Given the description of an element on the screen output the (x, y) to click on. 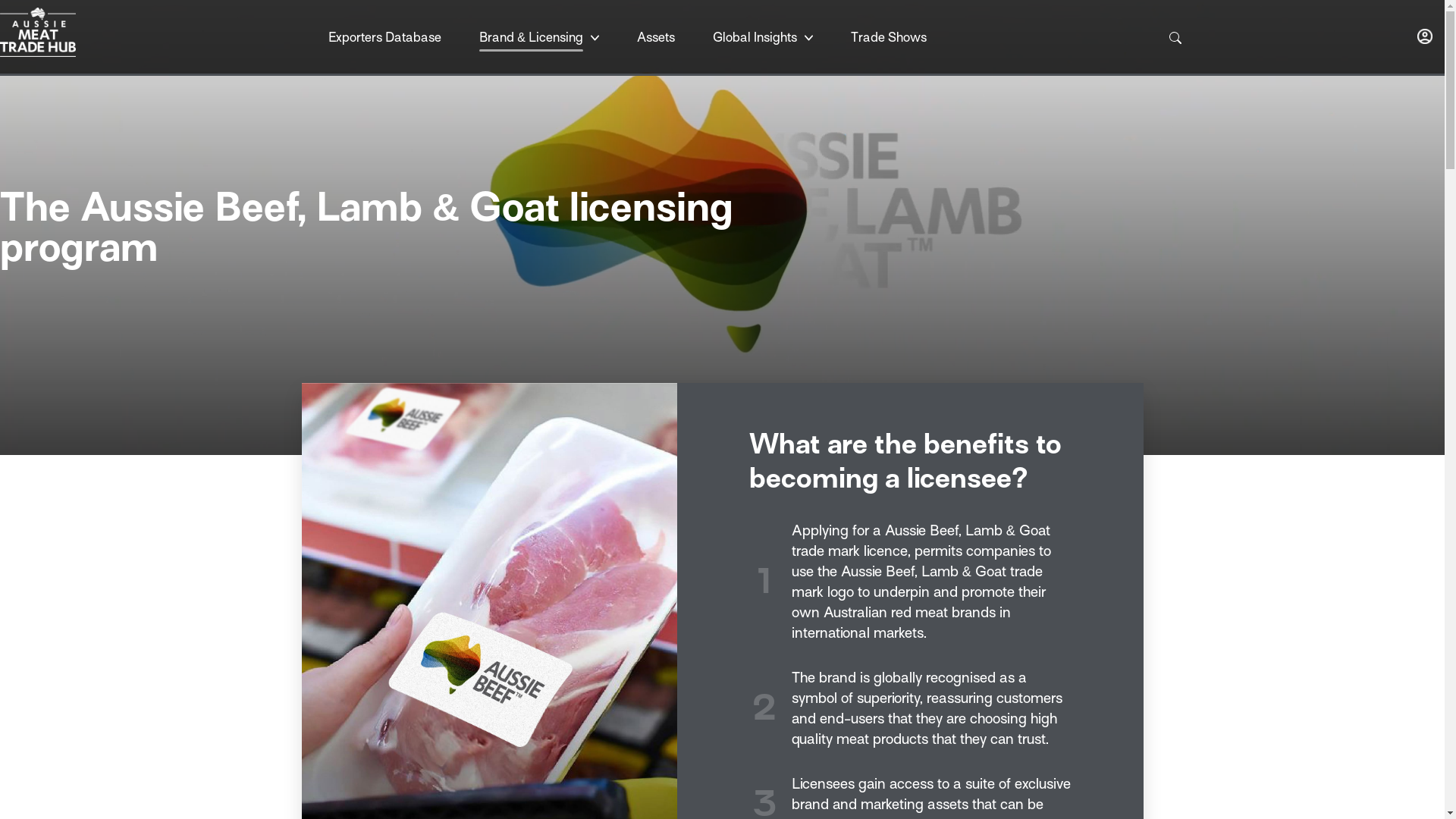
Global Insights Element type: text (754, 37)
Trade Shows Element type: text (888, 37)
Brand & Licensing Element type: text (539, 37)
Exporters Database Element type: text (384, 37)
Brand & Licensing Element type: text (531, 37)
Assets Element type: text (655, 37)
Trade Shows Element type: text (888, 37)
Exporters Database Element type: text (384, 37)
Global Insights Element type: text (762, 37)
Assets Element type: text (655, 37)
